Given the description of an element on the screen output the (x, y) to click on. 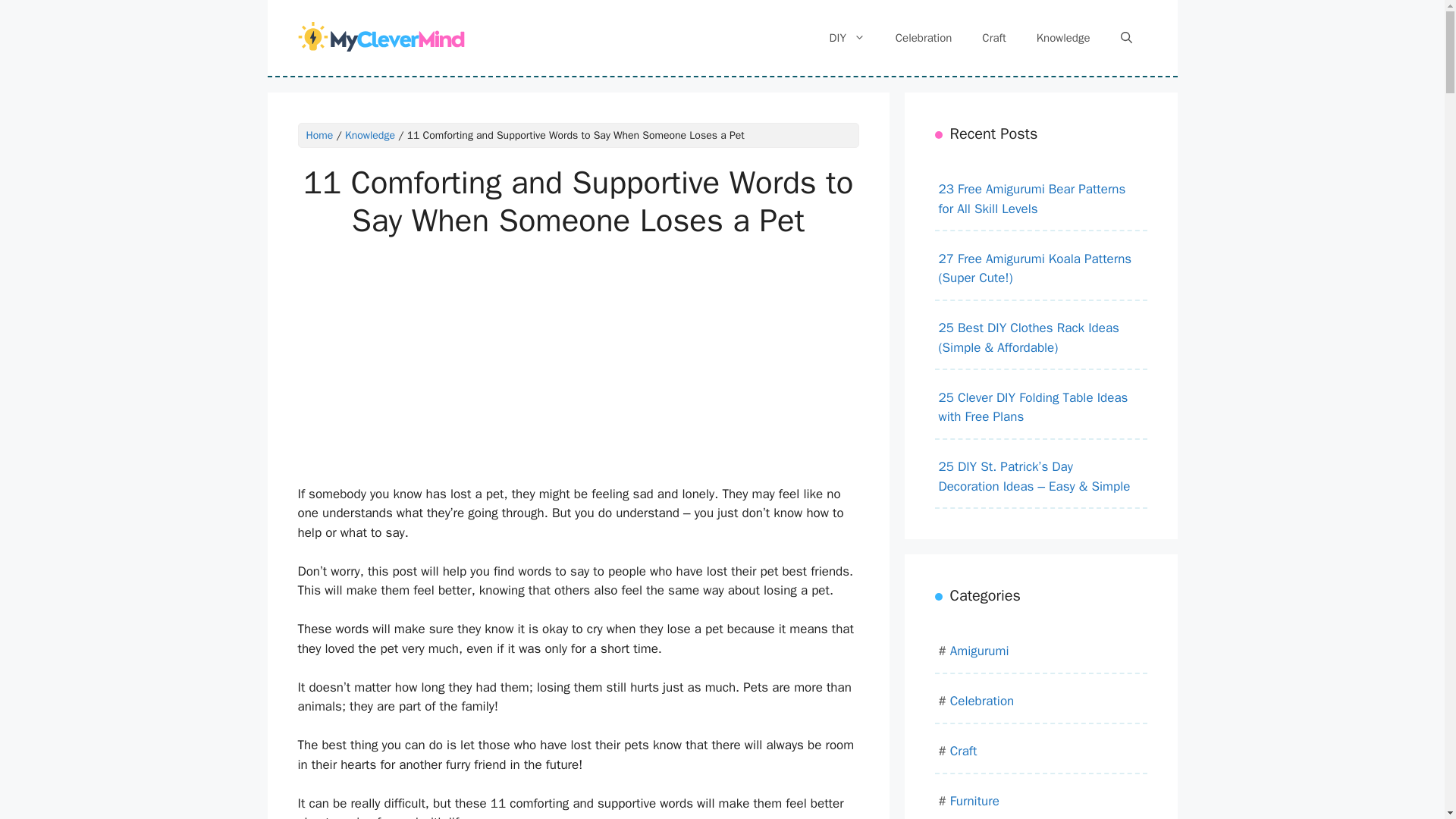
Celebration (924, 37)
DIY (846, 37)
Knowledge (369, 134)
Home (319, 134)
Craft (993, 37)
Advertisement (540, 372)
Knowledge (1063, 37)
